Given the description of an element on the screen output the (x, y) to click on. 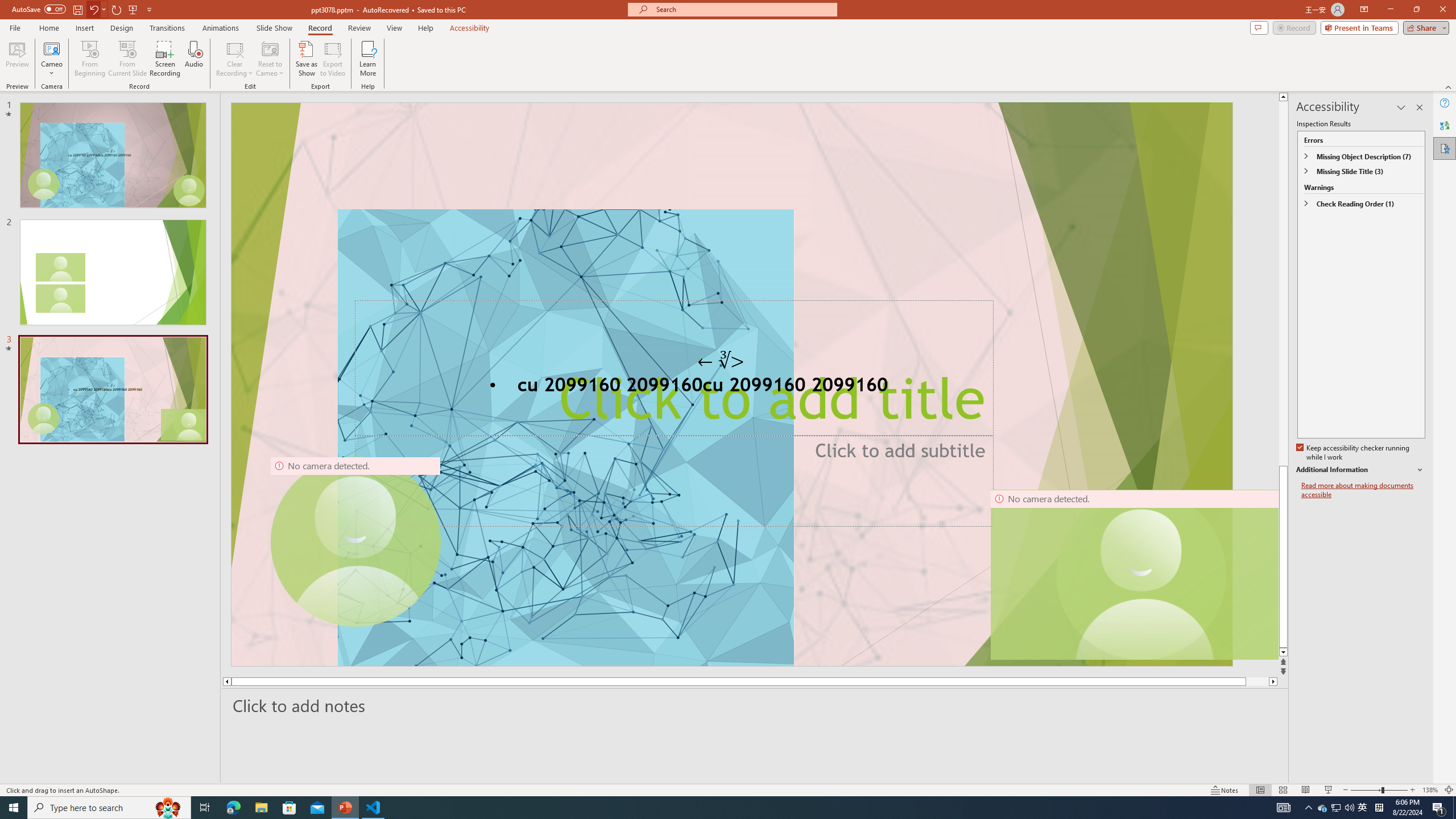
Zoom 138% (1430, 790)
Camera 14, No camera detected. (1134, 574)
Reset to Cameo (269, 58)
From Beginning... (89, 58)
